Given the description of an element on the screen output the (x, y) to click on. 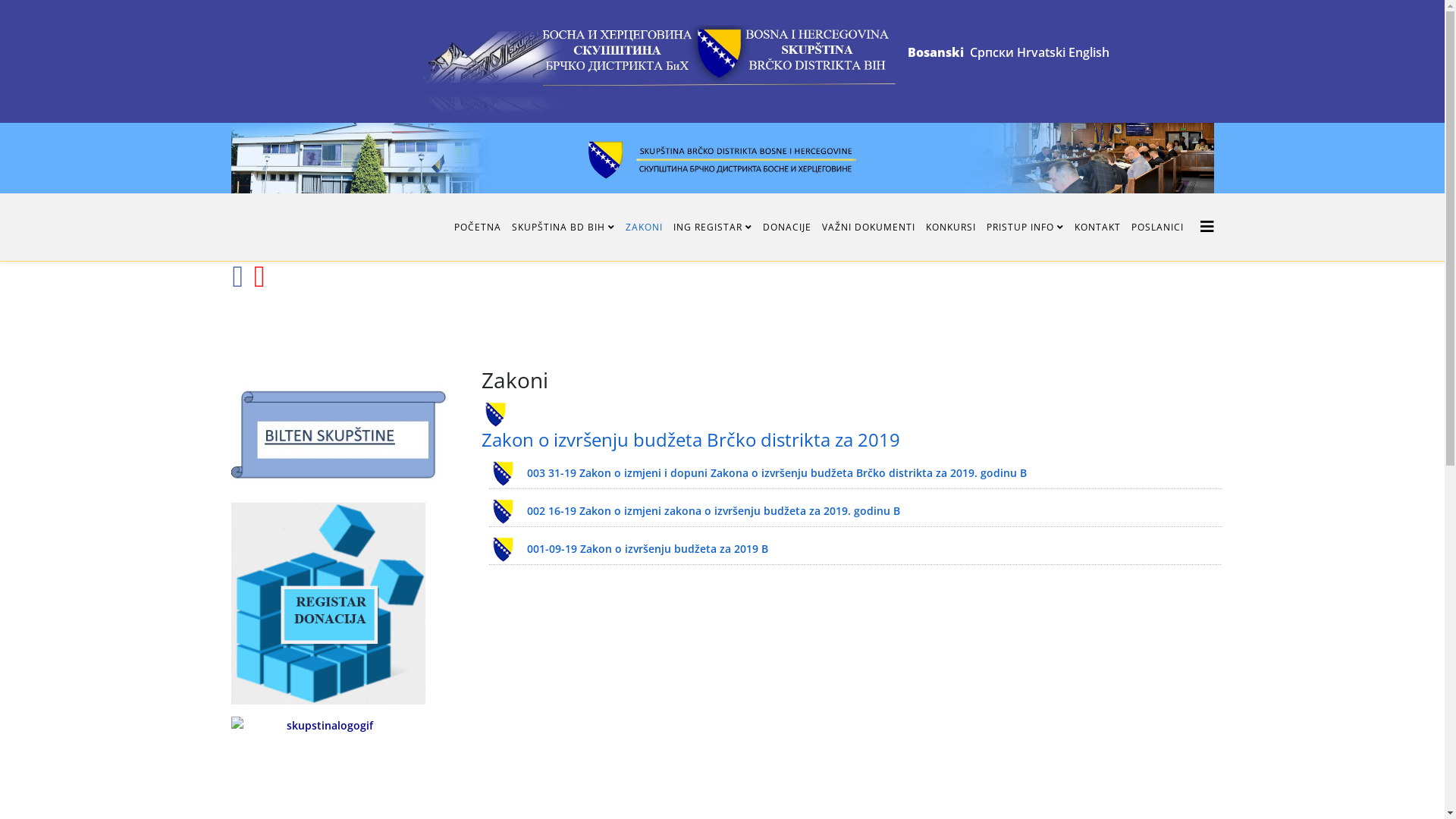
Engli Element type: text (1081, 51)
Helix3 Megamenu Options Element type: hover (1206, 226)
KONKURSI Element type: text (950, 227)
Bosanski Element type: text (934, 51)
DONACIJE Element type: text (785, 227)
POSLANICI Element type: text (1156, 227)
KONTAKT Element type: text (1097, 227)
Hrvatski Element type: text (1040, 51)
ING REGISTAR Element type: text (711, 227)
PRISTUP INFO Element type: text (1025, 227)
ZAKONI Element type: text (644, 227)
